Given the description of an element on the screen output the (x, y) to click on. 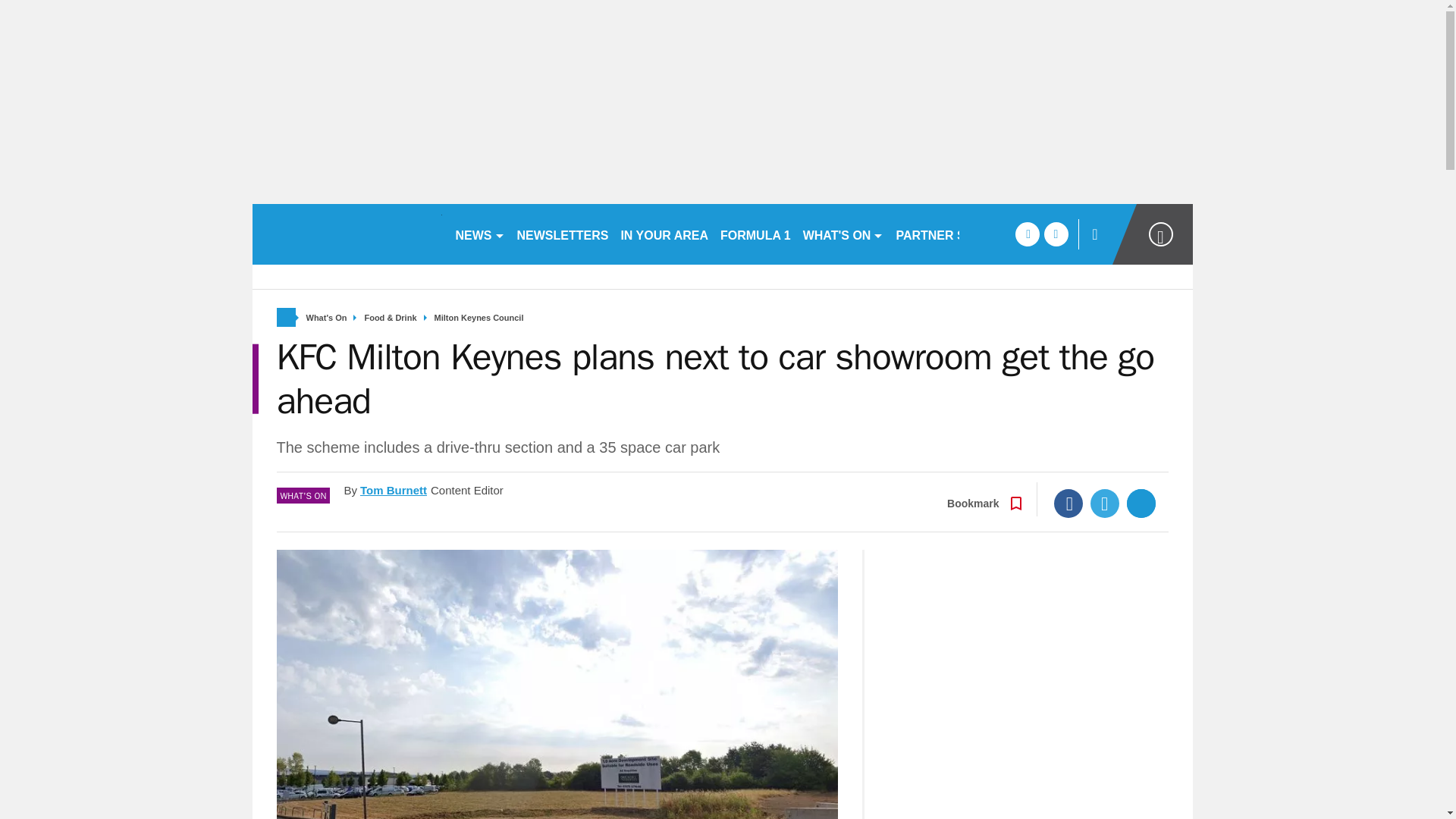
IN YOUR AREA (664, 233)
Twitter (1104, 502)
PARTNER STORIES (952, 233)
Facebook (1068, 502)
NEWSLETTERS (562, 233)
NEWS (479, 233)
twitter (1055, 233)
facebook (1026, 233)
WHAT'S ON (842, 233)
FORMULA 1 (755, 233)
buckinghamshirelive (346, 233)
